Given the description of an element on the screen output the (x, y) to click on. 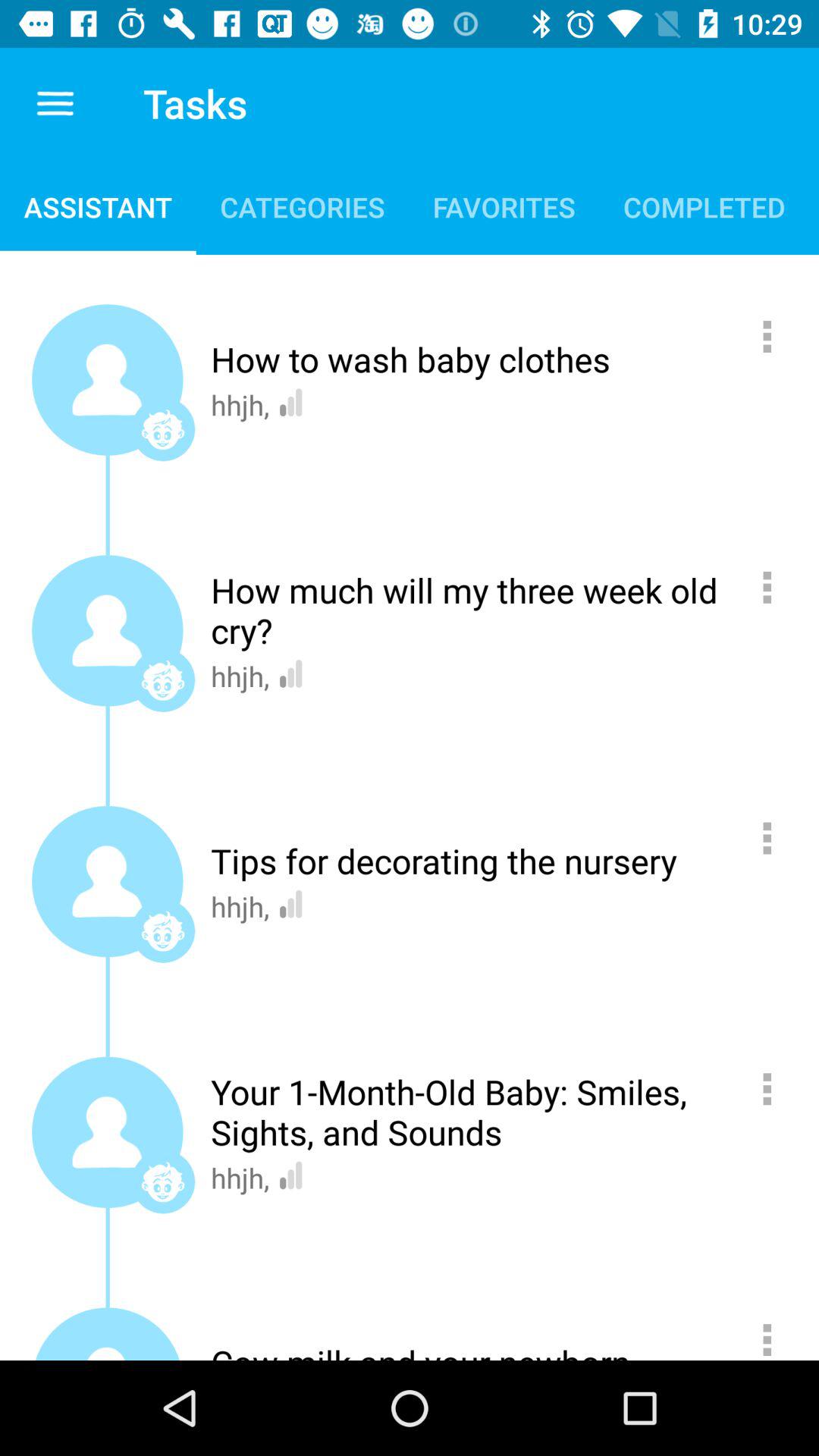
open option menu (775, 1334)
